Given the description of an element on the screen output the (x, y) to click on. 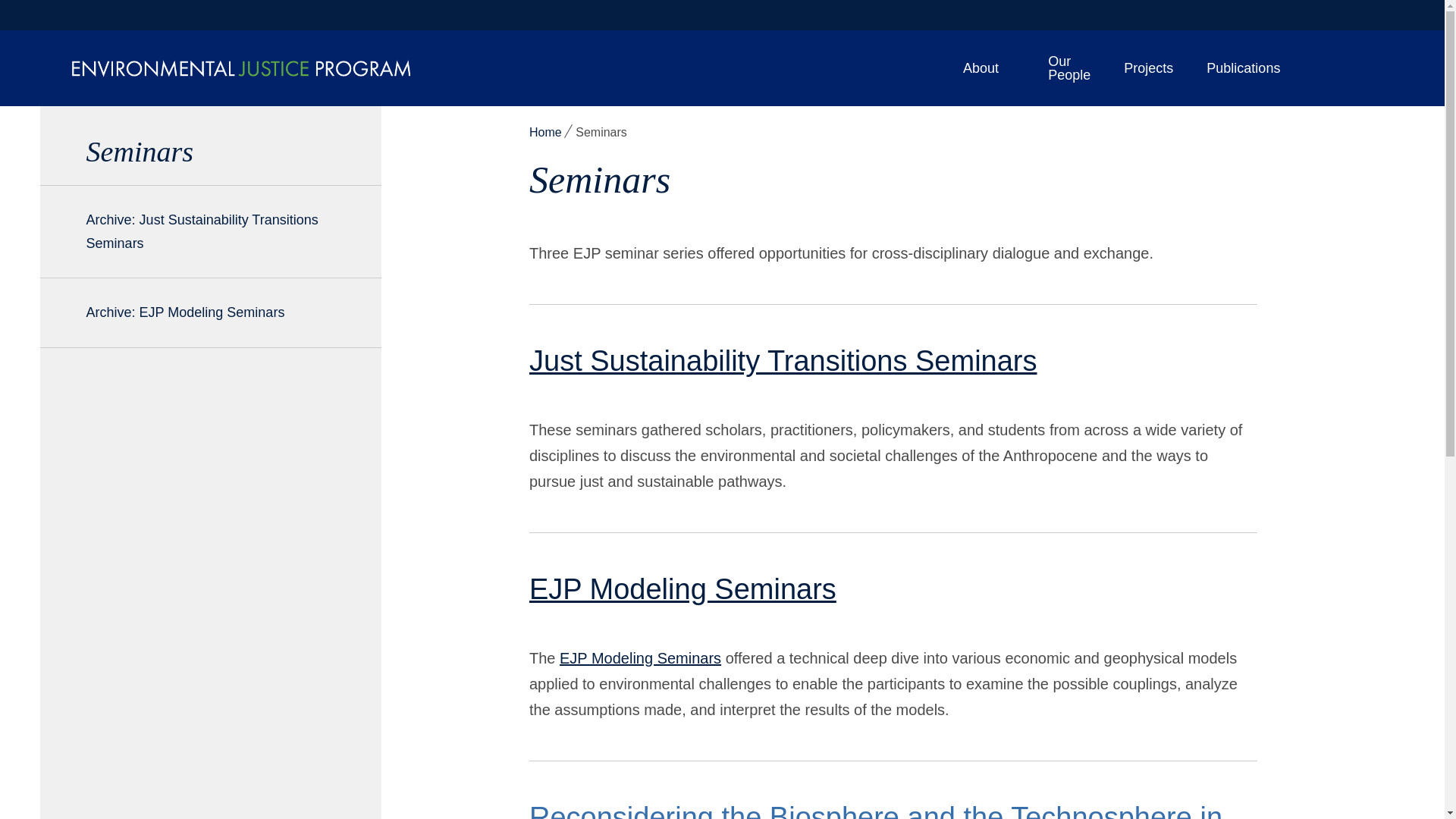
Home (545, 132)
Archive: Just Sustainability Transitions Seminars (209, 231)
Archive: EJP Modeling Seminars (209, 312)
Seminars (209, 151)
EJP Modeling Seminars (639, 658)
Just Sustainability Transitions Seminars (782, 360)
EJP Modeling Seminars (682, 589)
Publications (1244, 68)
